Given the description of an element on the screen output the (x, y) to click on. 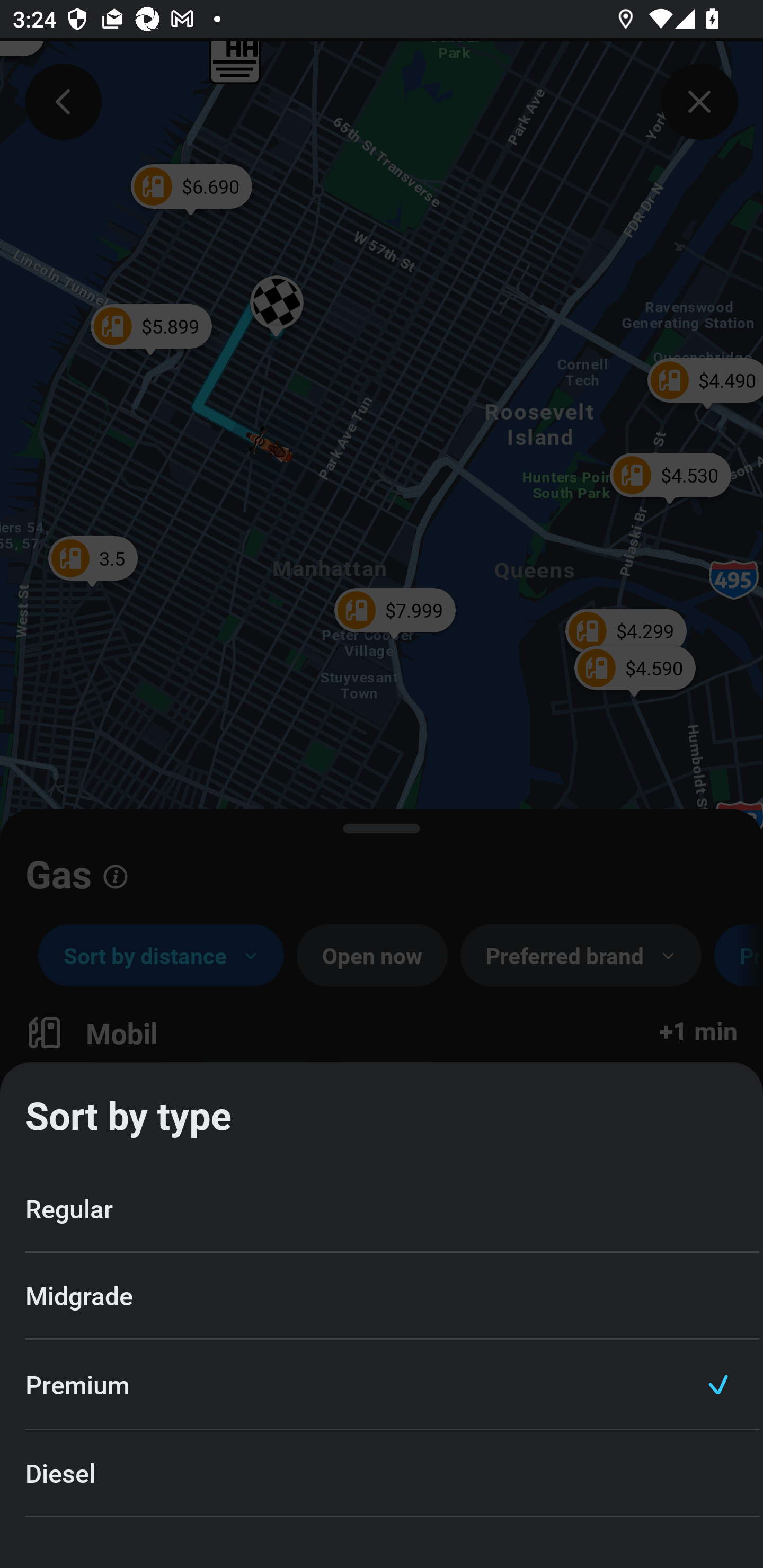
Regular ACTION_CELL_TEXT (381, 1209)
Midgrade ACTION_CELL_TEXT (381, 1295)
Premium ACTION_CELL_TEXT (381, 1384)
Diesel ACTION_CELL_TEXT (381, 1473)
